Given the description of an element on the screen output the (x, y) to click on. 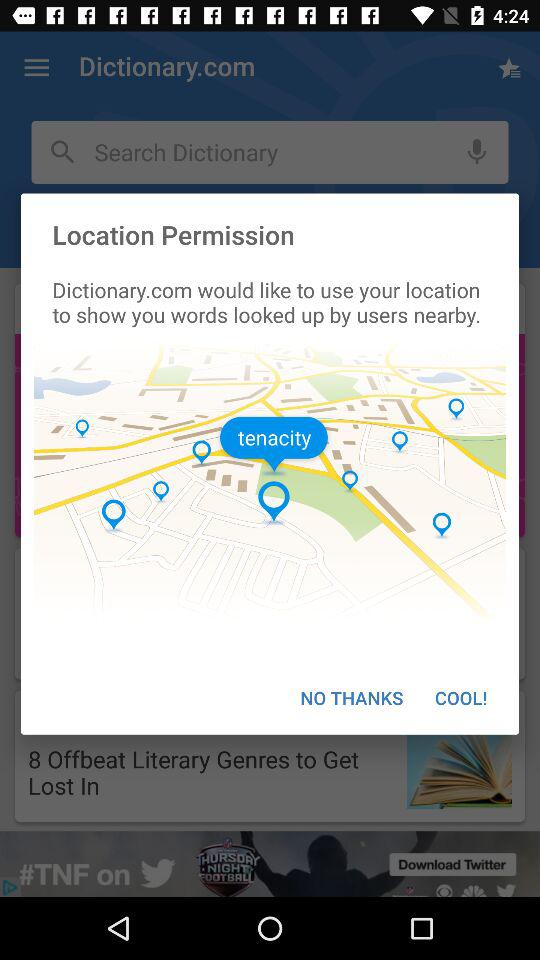
choose cool! item (461, 697)
